Given the description of an element on the screen output the (x, y) to click on. 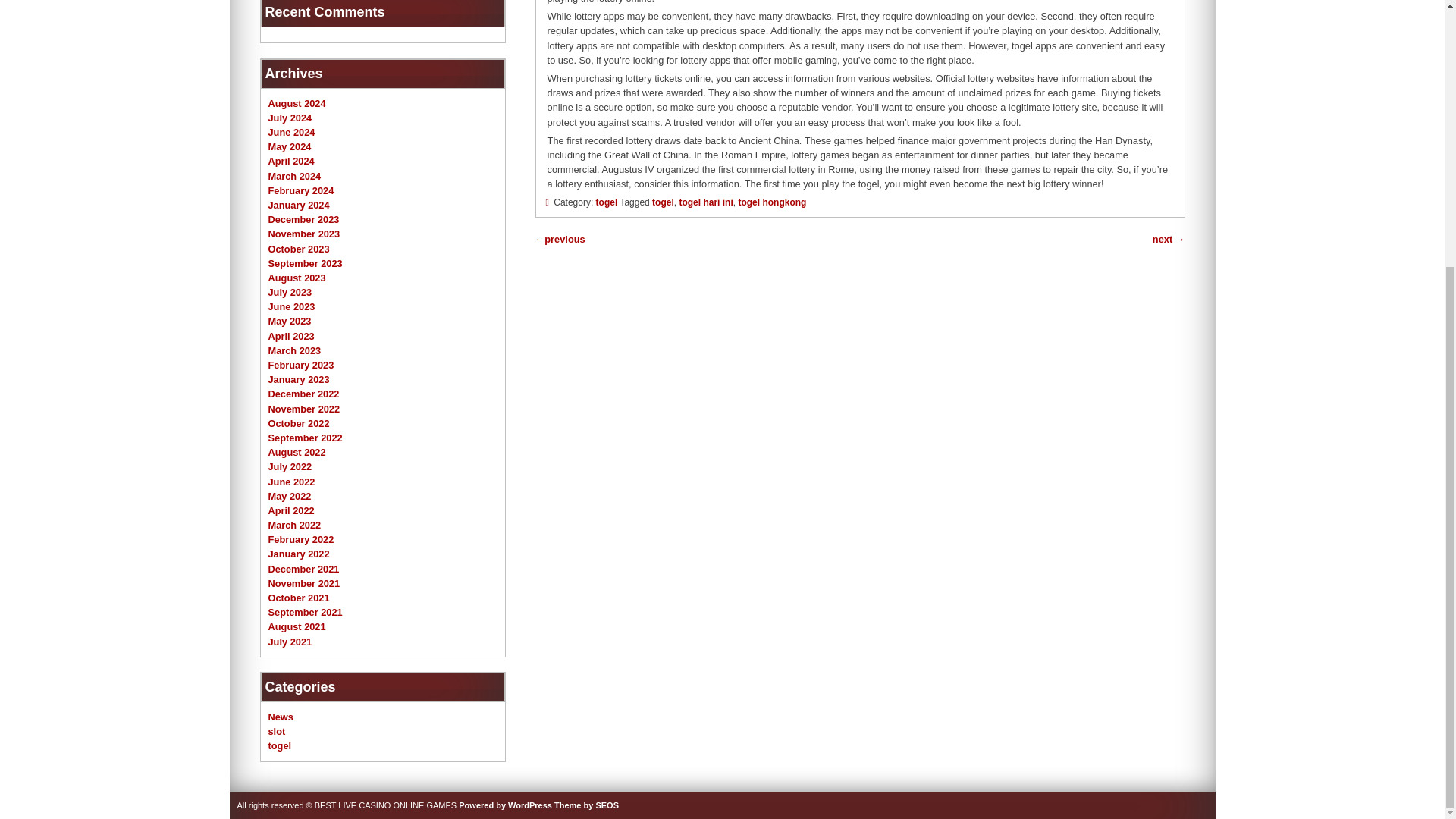
togel (606, 202)
July 2024 (290, 117)
December 2022 (303, 393)
July 2023 (290, 292)
togel hari ini (705, 202)
February 2024 (300, 190)
February 2023 (300, 365)
November 2023 (303, 233)
March 2023 (294, 350)
August 2024 (296, 102)
